Given the description of an element on the screen output the (x, y) to click on. 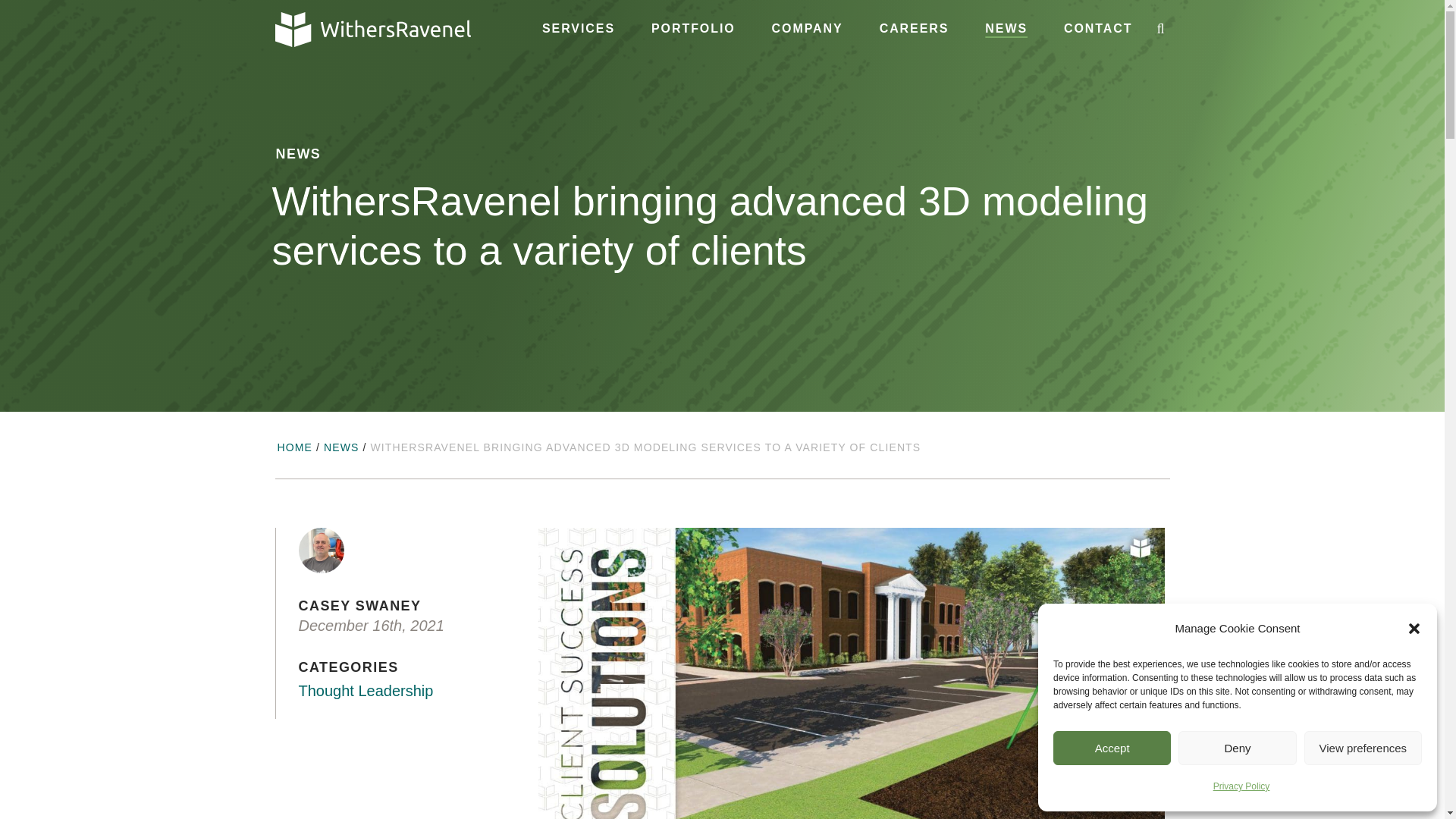
SERVICES (577, 28)
View preferences (1363, 747)
Visit Home Page (372, 29)
Privacy Policy (1240, 786)
Accept (1111, 747)
Deny (1236, 747)
